Given the description of an element on the screen output the (x, y) to click on. 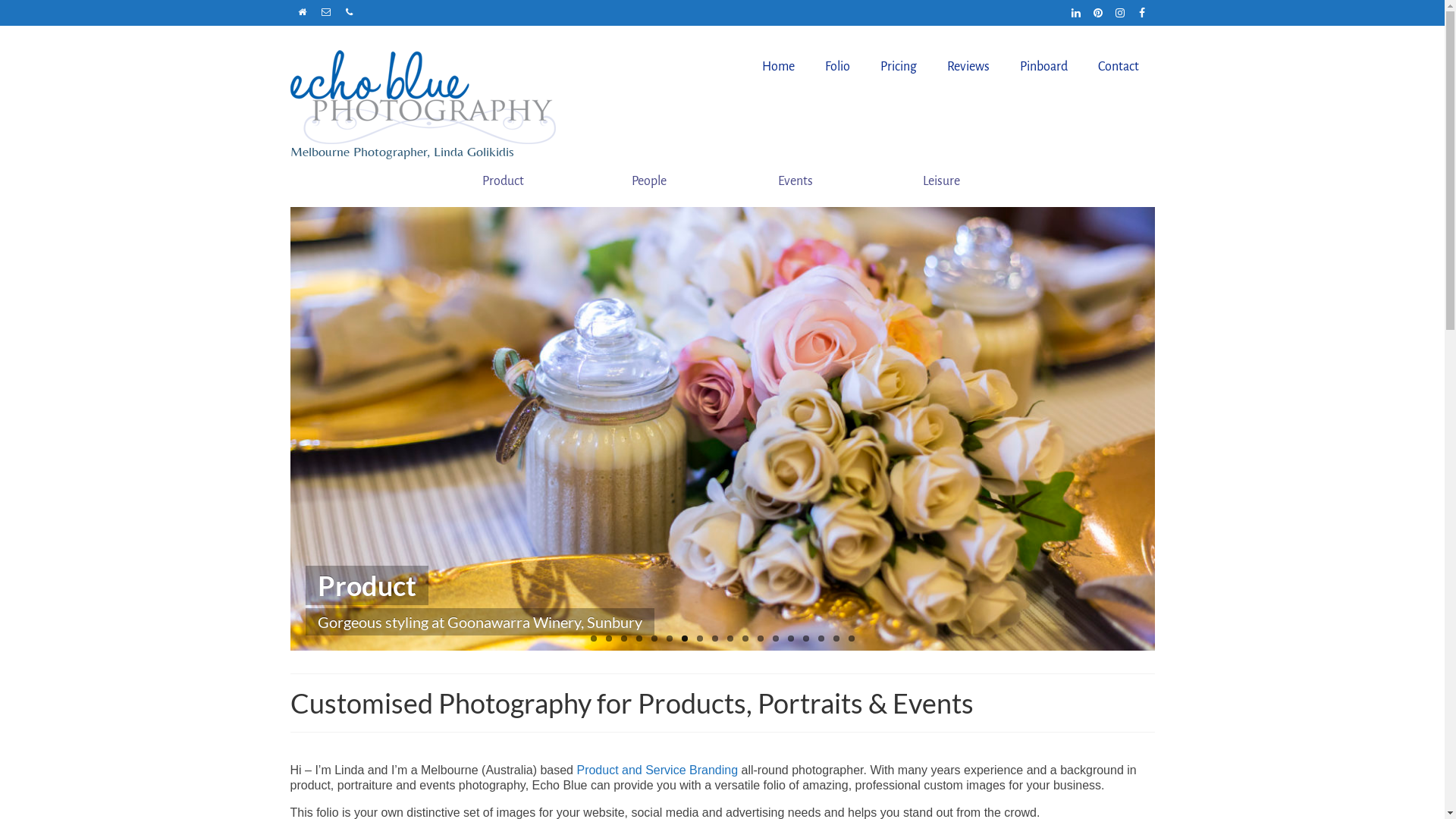
14 Element type: text (790, 638)
2 Element type: text (608, 638)
15 Element type: text (805, 638)
Home Element type: text (777, 66)
11 Element type: text (744, 638)
16 Element type: text (820, 638)
1 Element type: text (592, 638)
Events Element type: text (795, 180)
7 Element type: text (683, 638)
18 Element type: text (850, 638)
Pinboard Element type: text (1043, 66)
13 Element type: text (774, 638)
People Element type: text (648, 180)
Product Element type: text (503, 180)
3 Element type: text (623, 638)
17 Element type: text (835, 638)
12 Element type: text (759, 638)
Contact Element type: text (1118, 66)
4 Element type: text (638, 638)
8 Element type: text (699, 638)
Pricing Element type: text (898, 66)
9 Element type: text (714, 638)
Product and Service Branding Element type: text (656, 769)
Leisure Element type: text (940, 180)
Reviews Element type: text (967, 66)
10 Element type: text (729, 638)
5 Element type: text (653, 638)
Folio Element type: text (837, 66)
6 Element type: text (668, 638)
